Given the description of an element on the screen output the (x, y) to click on. 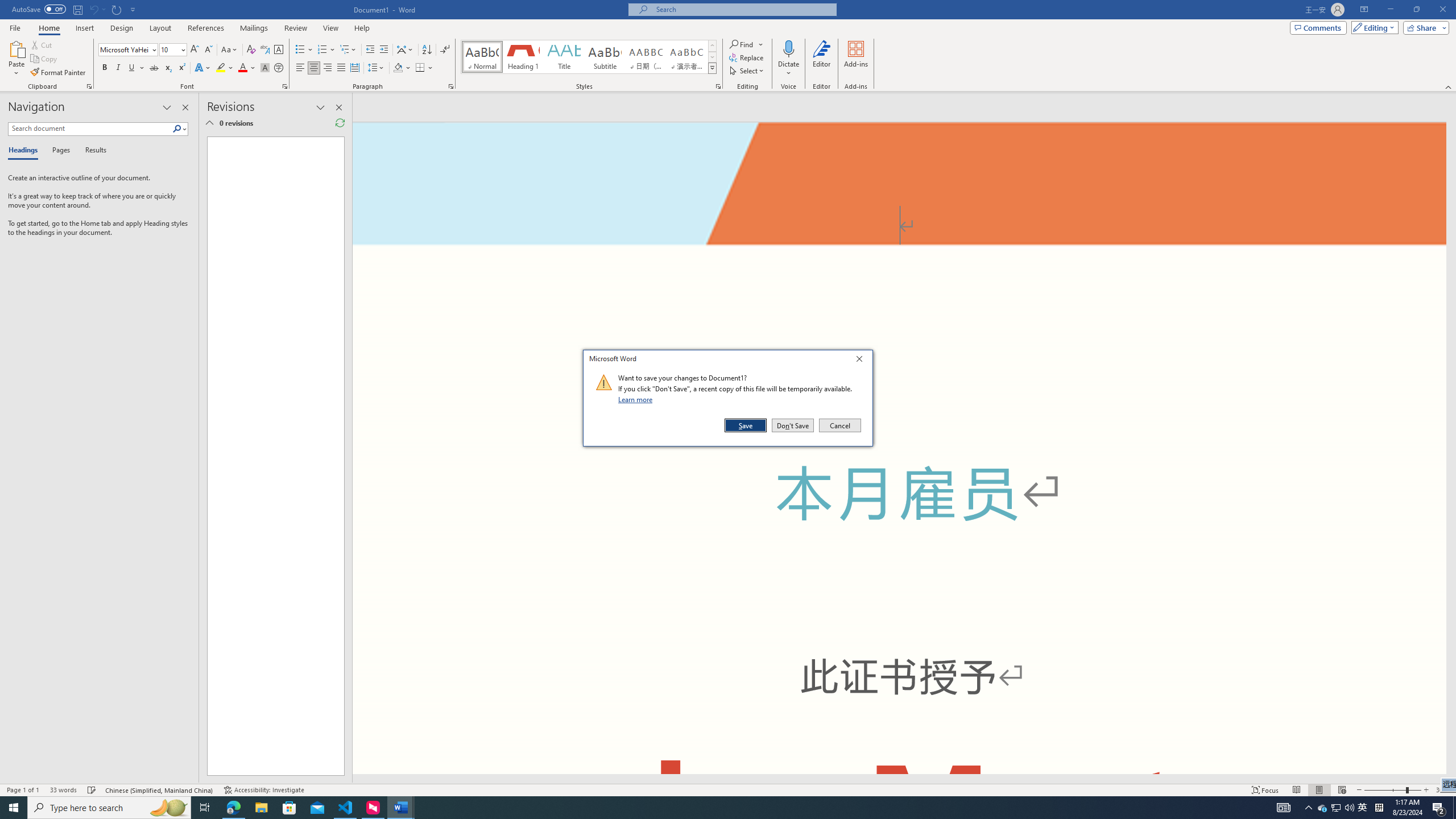
Don't Save (792, 425)
